Given the description of an element on the screen output the (x, y) to click on. 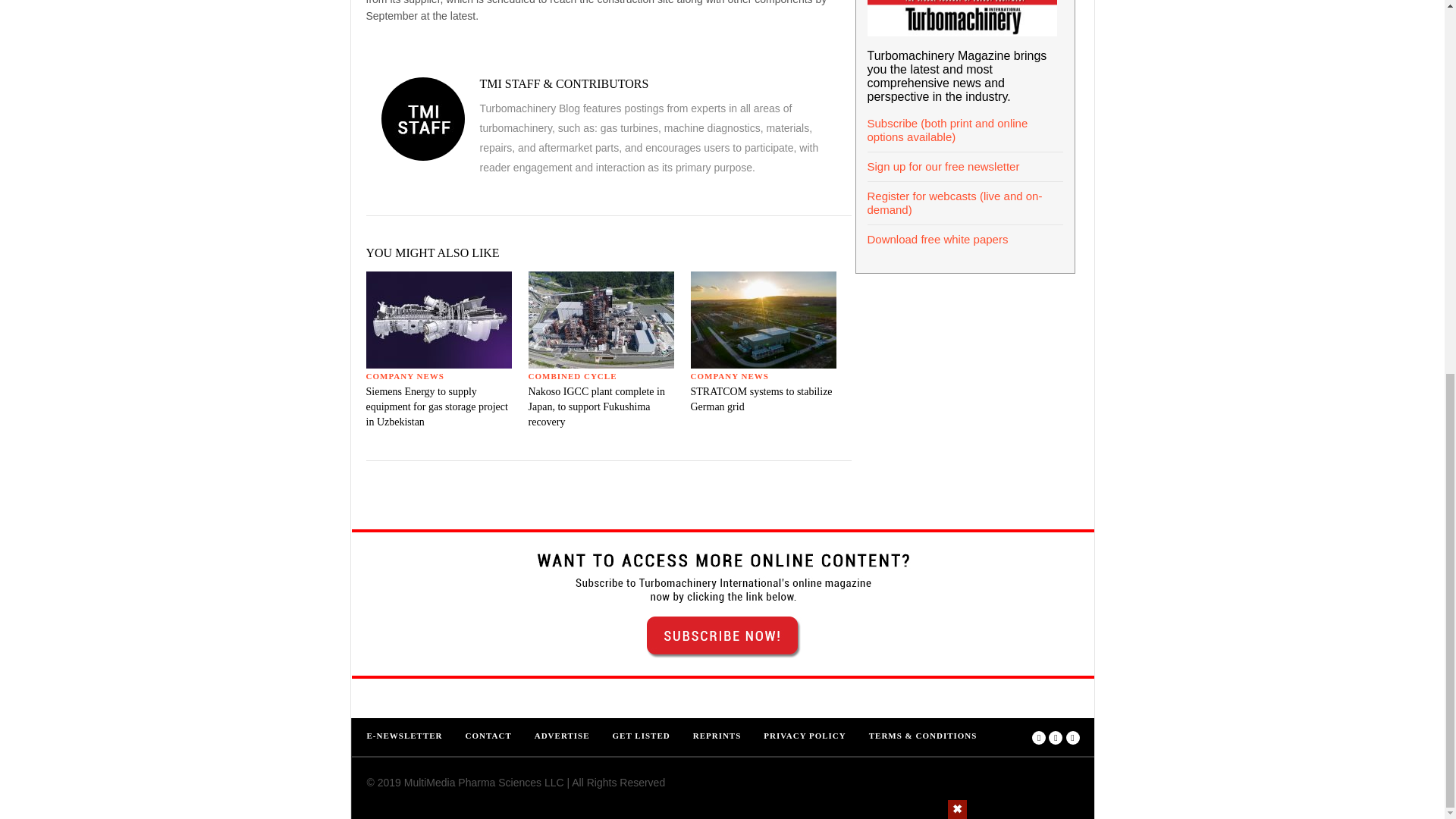
Permanent Link: STRATCOM systems to stabilize German grid (760, 398)
